Given the description of an element on the screen output the (x, y) to click on. 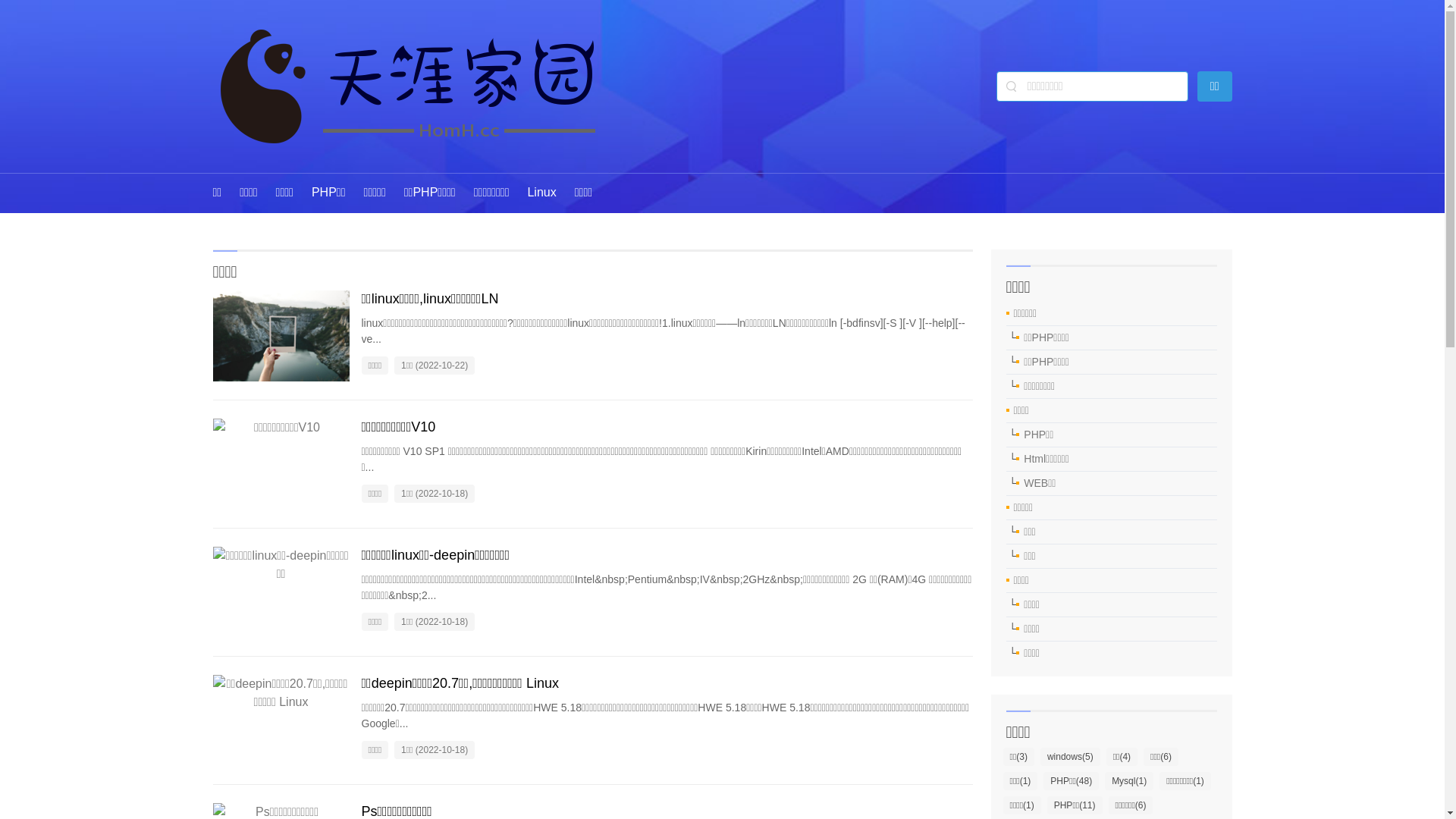
Linux Element type: text (541, 192)
Mysql
(1) Element type: text (1128, 780)
windows
(5) Element type: text (1070, 756)
